Given the description of an element on the screen output the (x, y) to click on. 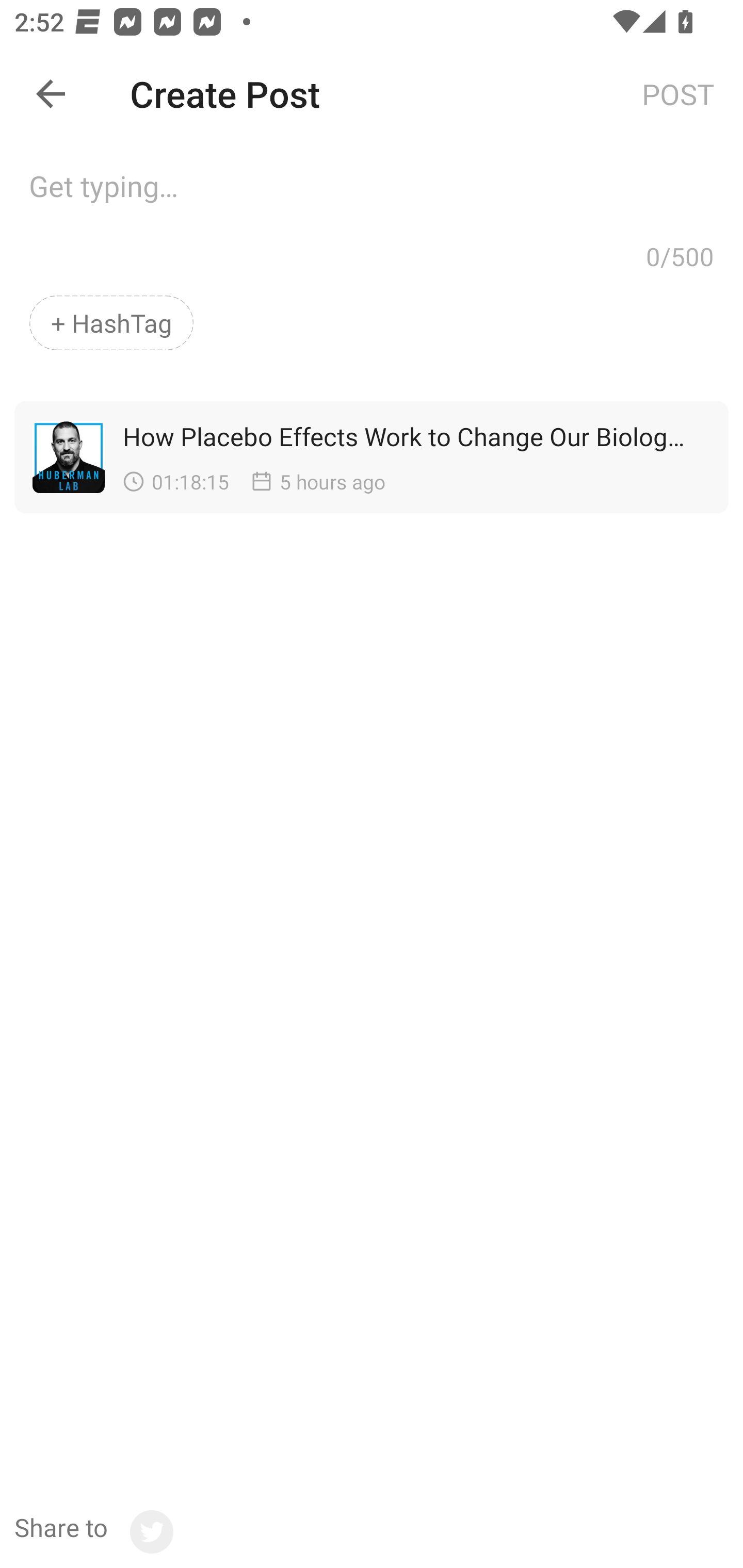
Navigate up (50, 93)
POST (677, 92)
Get typing… (371, 191)
+ HashTag (110, 322)
Share to (93, 1531)
